Given the description of an element on the screen output the (x, y) to click on. 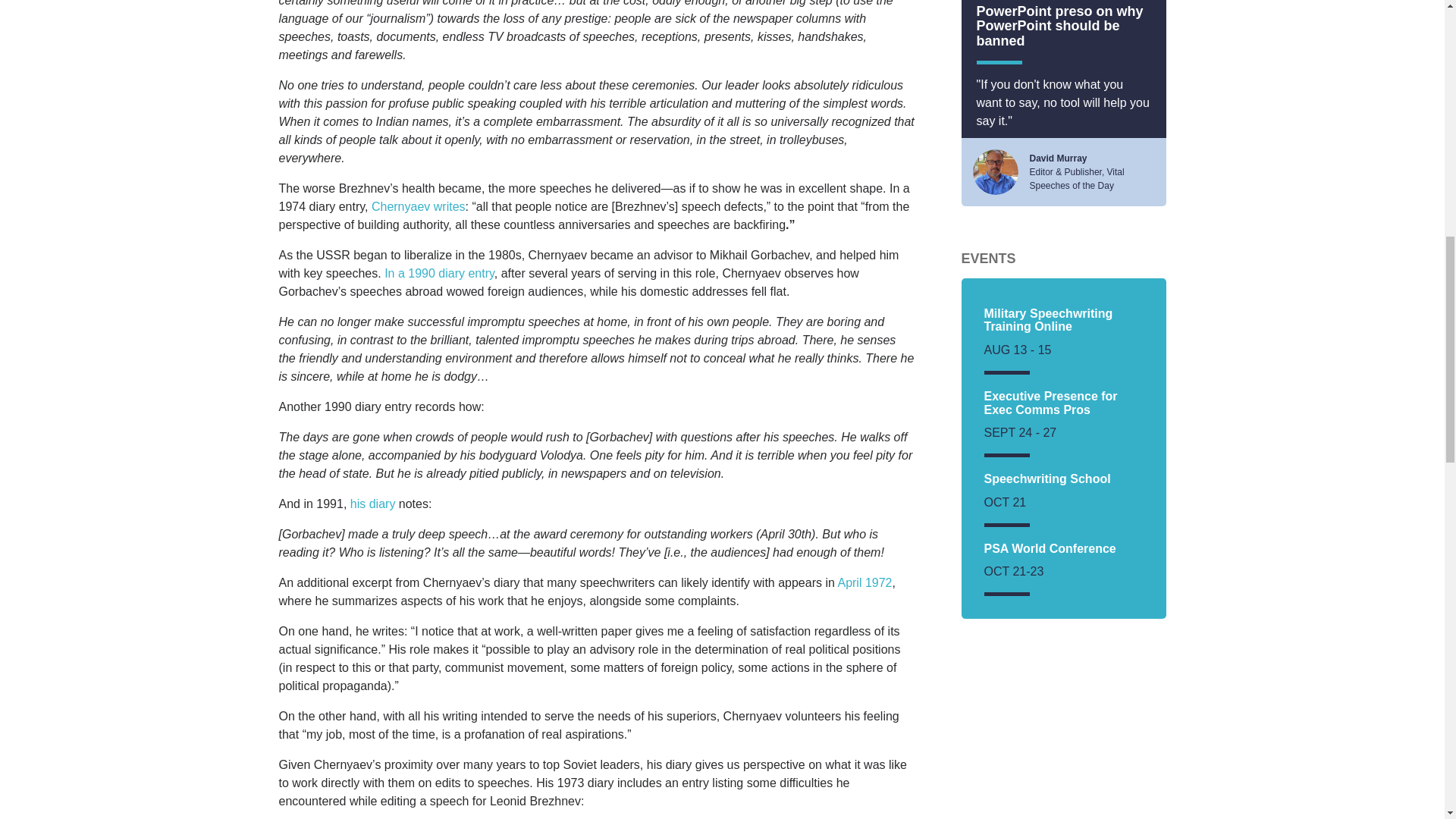
his diary (373, 503)
Chernyaev writes (418, 205)
In a 1990 diary entry (439, 273)
April 1972 (864, 582)
